Given the description of an element on the screen output the (x, y) to click on. 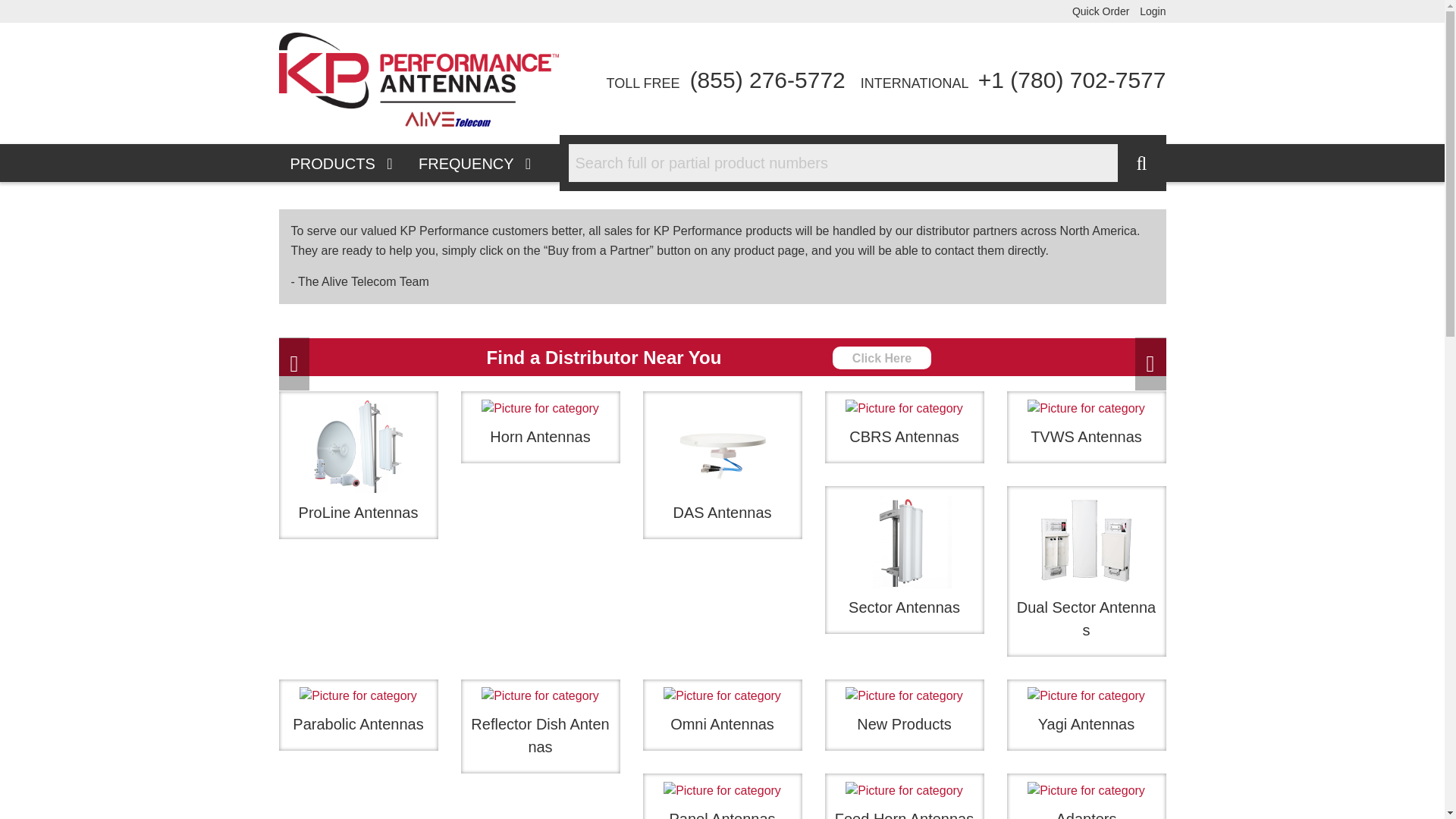
Show products in category  (539, 427)
Show products in category  (358, 445)
Show products in category  (903, 408)
Show products in category  (1085, 408)
Show products in category  (1085, 427)
Quick Order (1100, 10)
Show products in category  (903, 427)
Show products in category  (722, 445)
Login (1153, 10)
Show products in category  (721, 464)
